Given the description of an element on the screen output the (x, y) to click on. 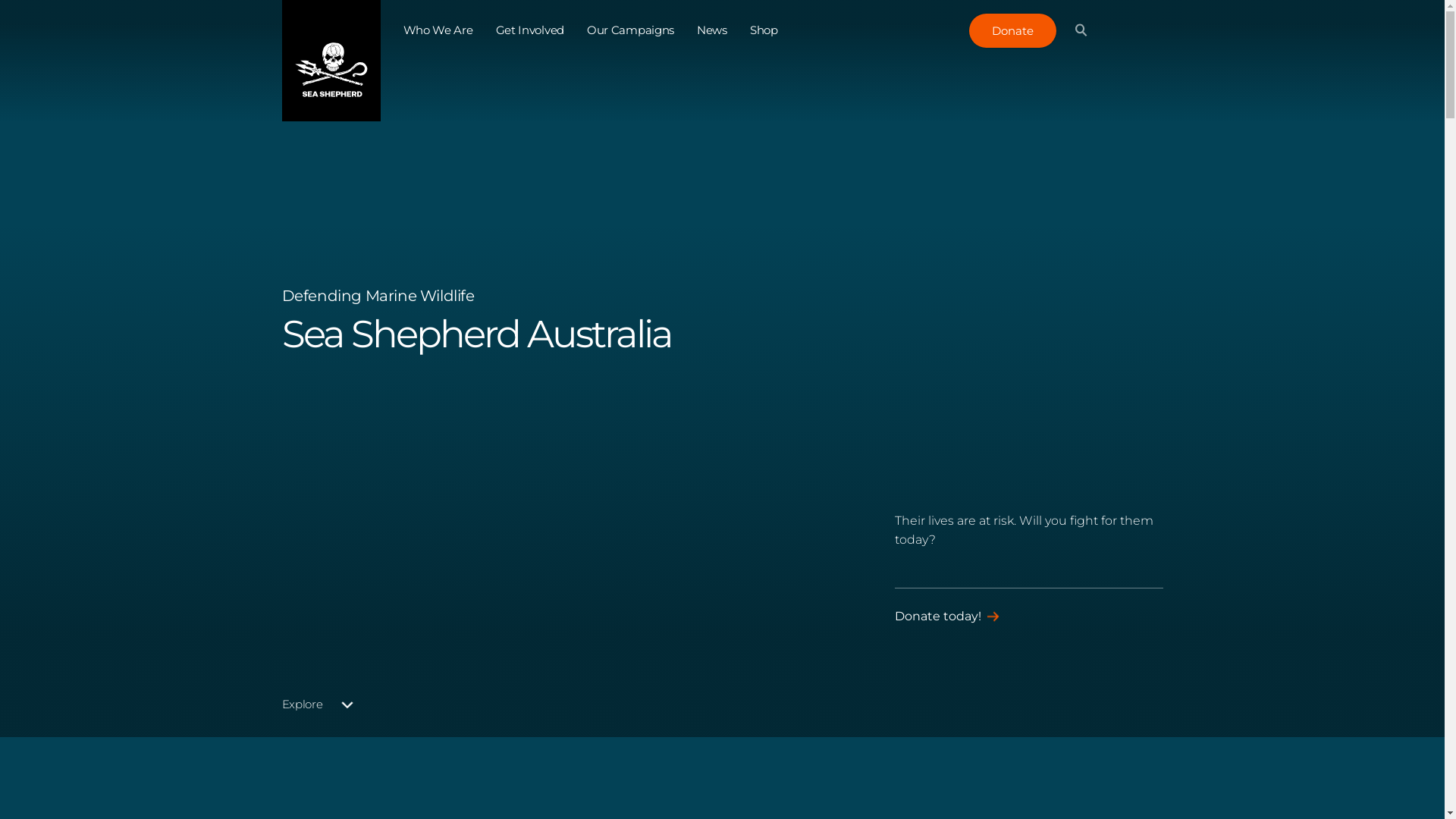
Our Campaigns Element type: text (630, 30)
Get Involved Element type: text (529, 30)
Donate today! Element type: text (947, 616)
News Element type: text (711, 30)
Who We Are Element type: text (438, 30)
Shop Element type: text (763, 30)
Donate Element type: text (1012, 30)
